Given the description of an element on the screen output the (x, y) to click on. 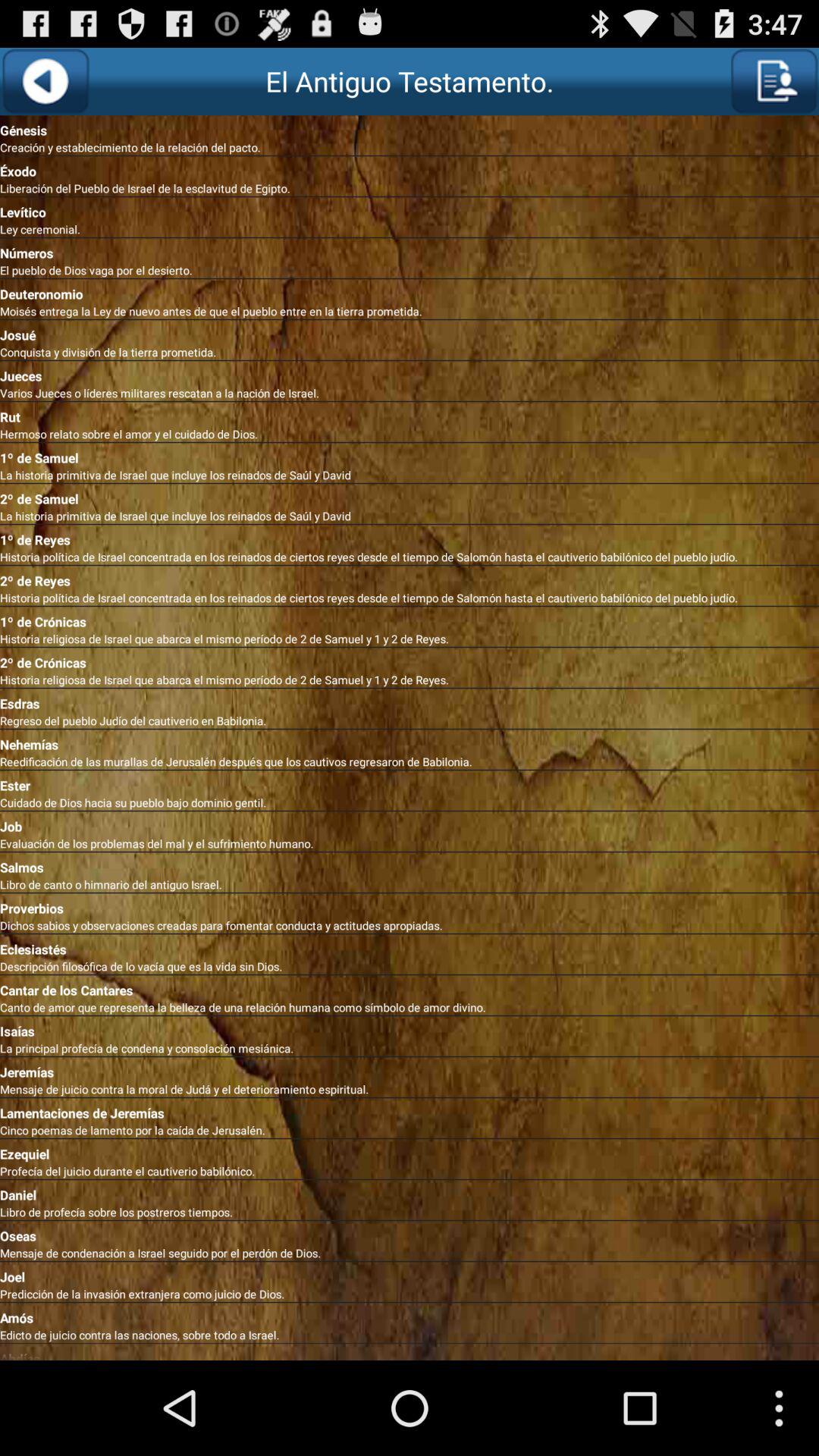
click the cinco poemas de item (409, 1130)
